Given the description of an element on the screen output the (x, y) to click on. 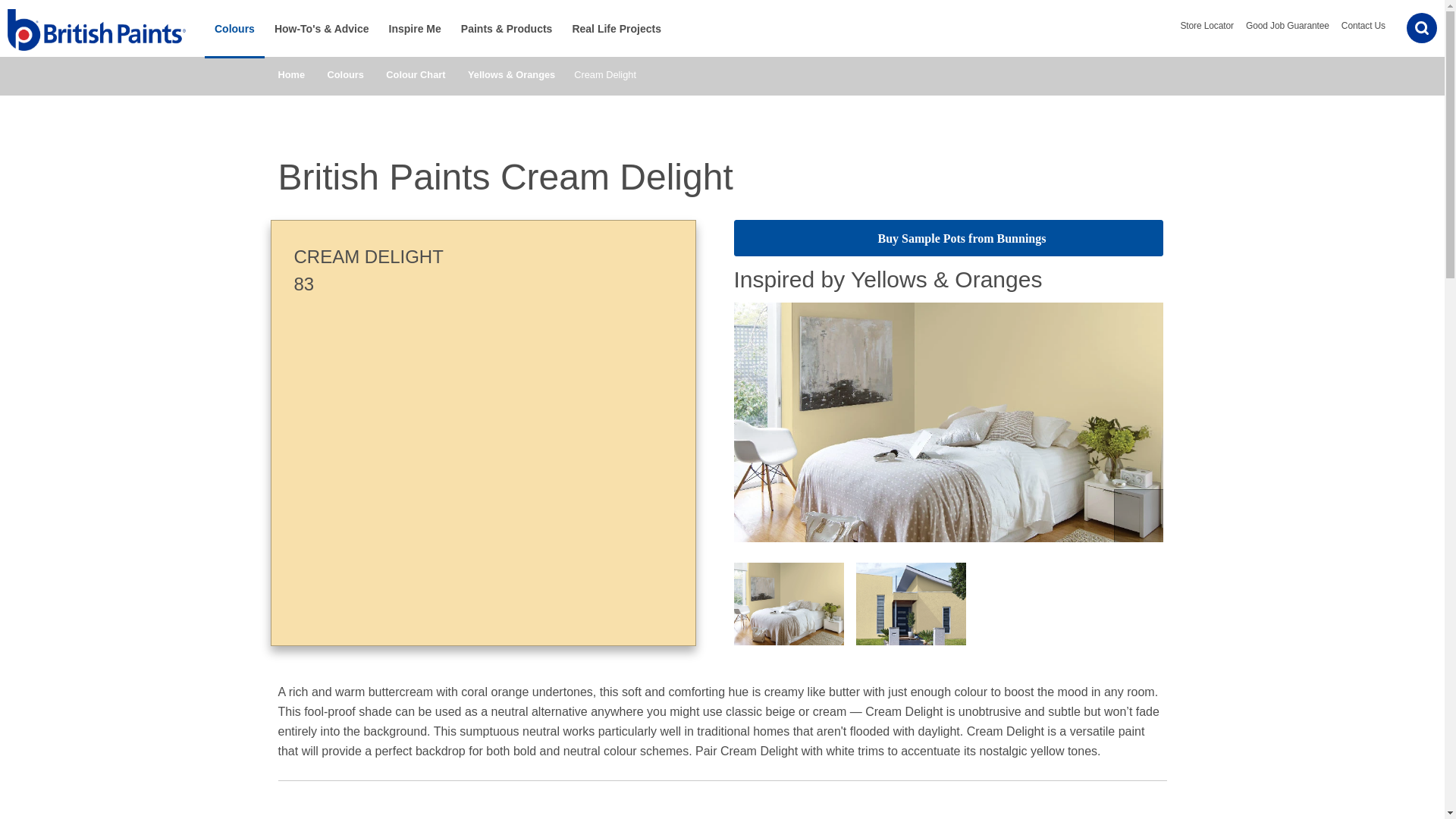
Real Life Projects (616, 28)
Colours (234, 28)
Store Locator (1206, 26)
Inspire Me (414, 28)
Good Job Guarantee (1287, 26)
LiveChat chat widget (1412, 787)
Contact Us (1363, 26)
